Given the description of an element on the screen output the (x, y) to click on. 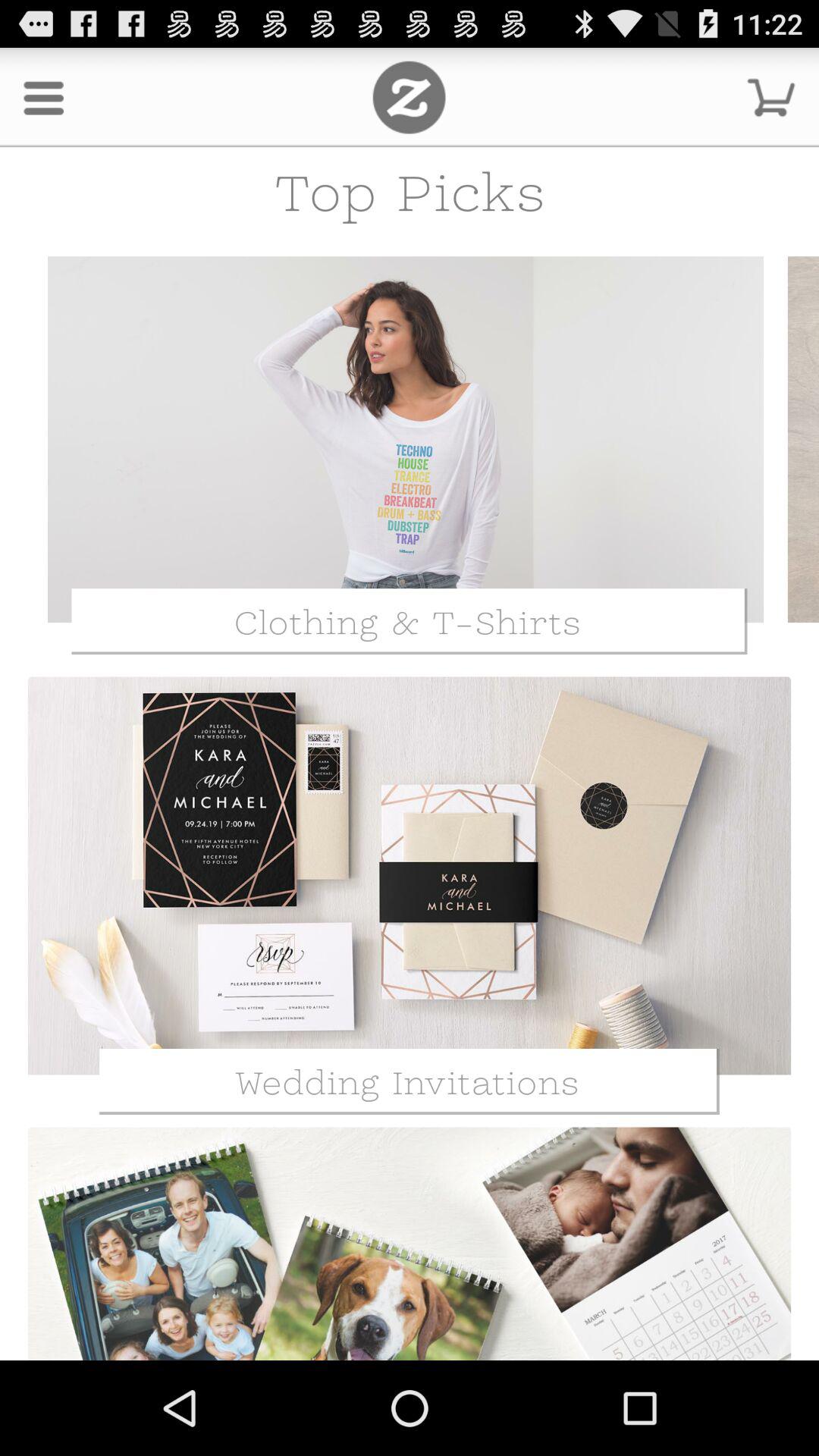
select the icon next to the menu icon (408, 97)
click the icon which is to the next of the menu icon (408, 97)
select the images which is just below the wedding invitations (409, 1242)
select the third block (409, 1240)
select the second image (409, 876)
select the second image (409, 895)
click on the third image (409, 1240)
click on the shopping cart symbol (771, 97)
